Given the description of an element on the screen output the (x, y) to click on. 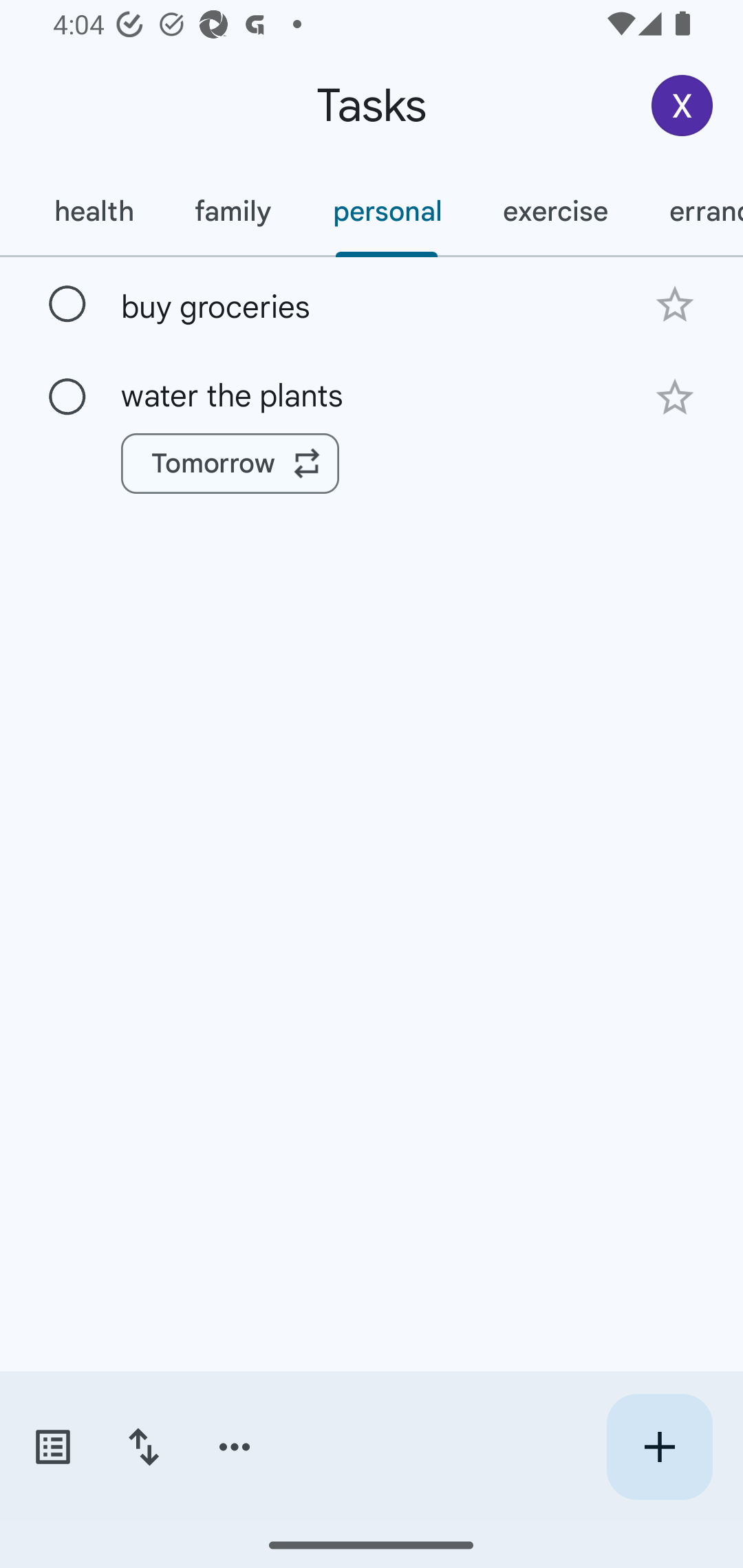
health (93, 211)
family (232, 211)
exercise (554, 211)
errands (690, 211)
Add star (674, 303)
Mark as complete (67, 304)
Add star (674, 397)
Mark as complete (67, 397)
Tomorrow (229, 463)
Switch task lists (52, 1447)
Create new task (659, 1446)
Change sort order (143, 1446)
More options (234, 1446)
